Given the description of an element on the screen output the (x, y) to click on. 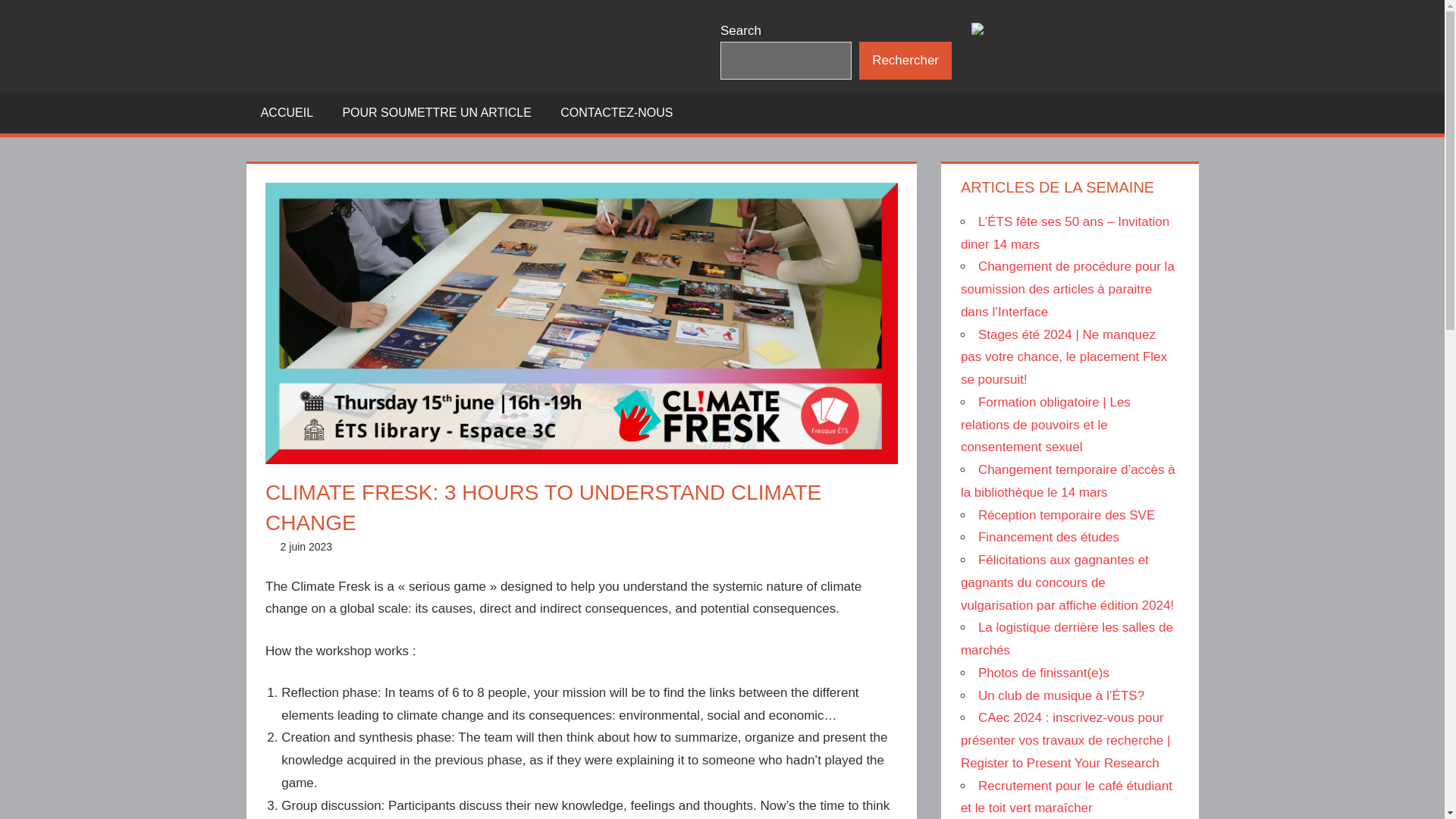
POUR SOUMETTRE UN ARTICLE (436, 112)
ACCUEIL (286, 112)
CONTACTEZ-NOUS (616, 112)
View all posts by 1571wpczar (391, 546)
Rechercher (905, 60)
Nouveaux Articles (684, 546)
2 juin 2023 (307, 546)
En rappel (493, 546)
Anglophone students' (413, 546)
1571wpczar (391, 546)
7 h 55 min (307, 546)
